Given the description of an element on the screen output the (x, y) to click on. 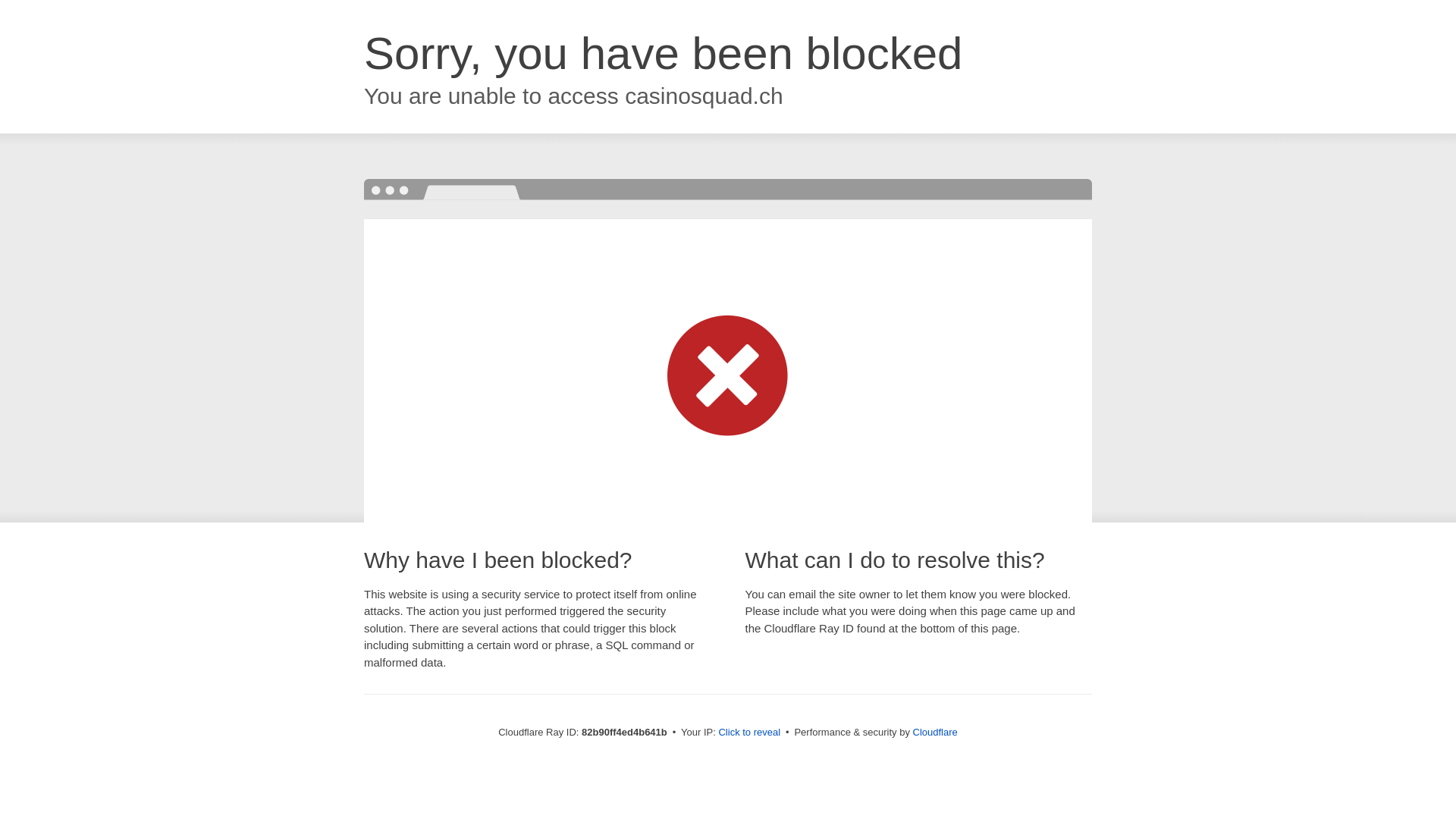
Click to reveal Element type: text (749, 732)
Cloudflare Element type: text (935, 731)
